Given the description of an element on the screen output the (x, y) to click on. 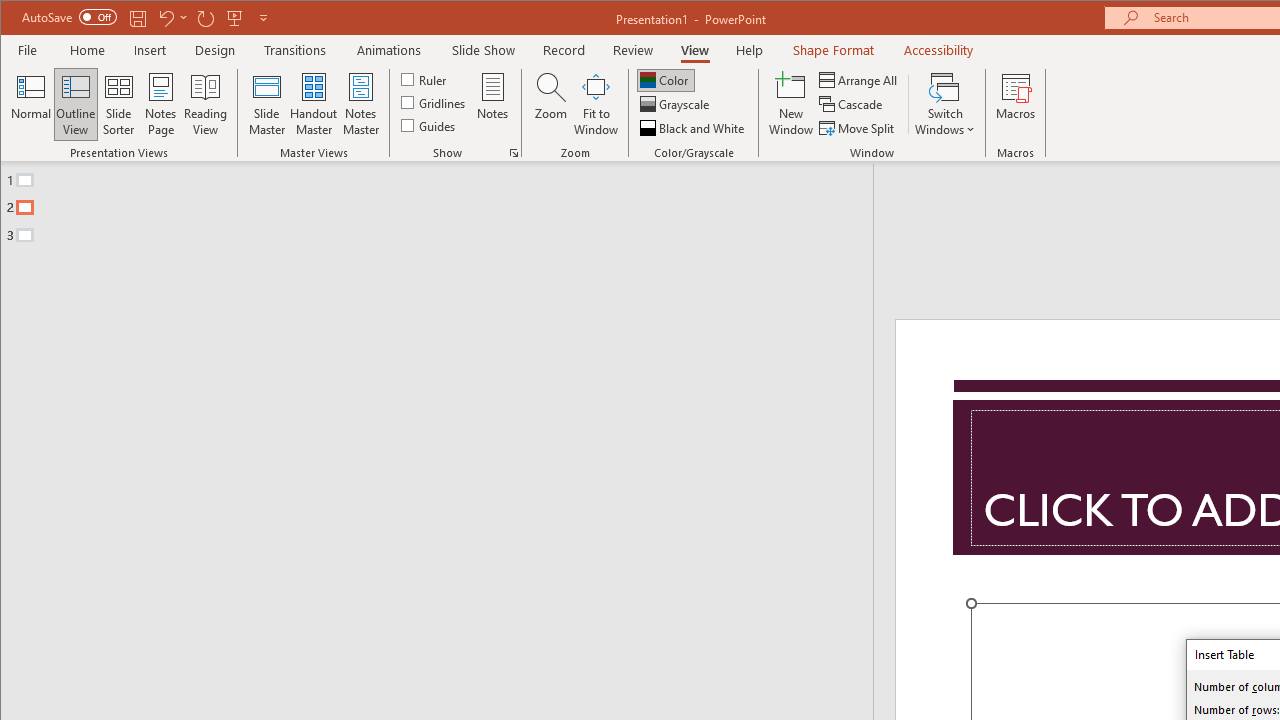
Notes (493, 104)
Slide Master (266, 104)
New Window (791, 104)
Switch Windows (944, 104)
Outline View (75, 104)
Move Split (858, 127)
